Given the description of an element on the screen output the (x, y) to click on. 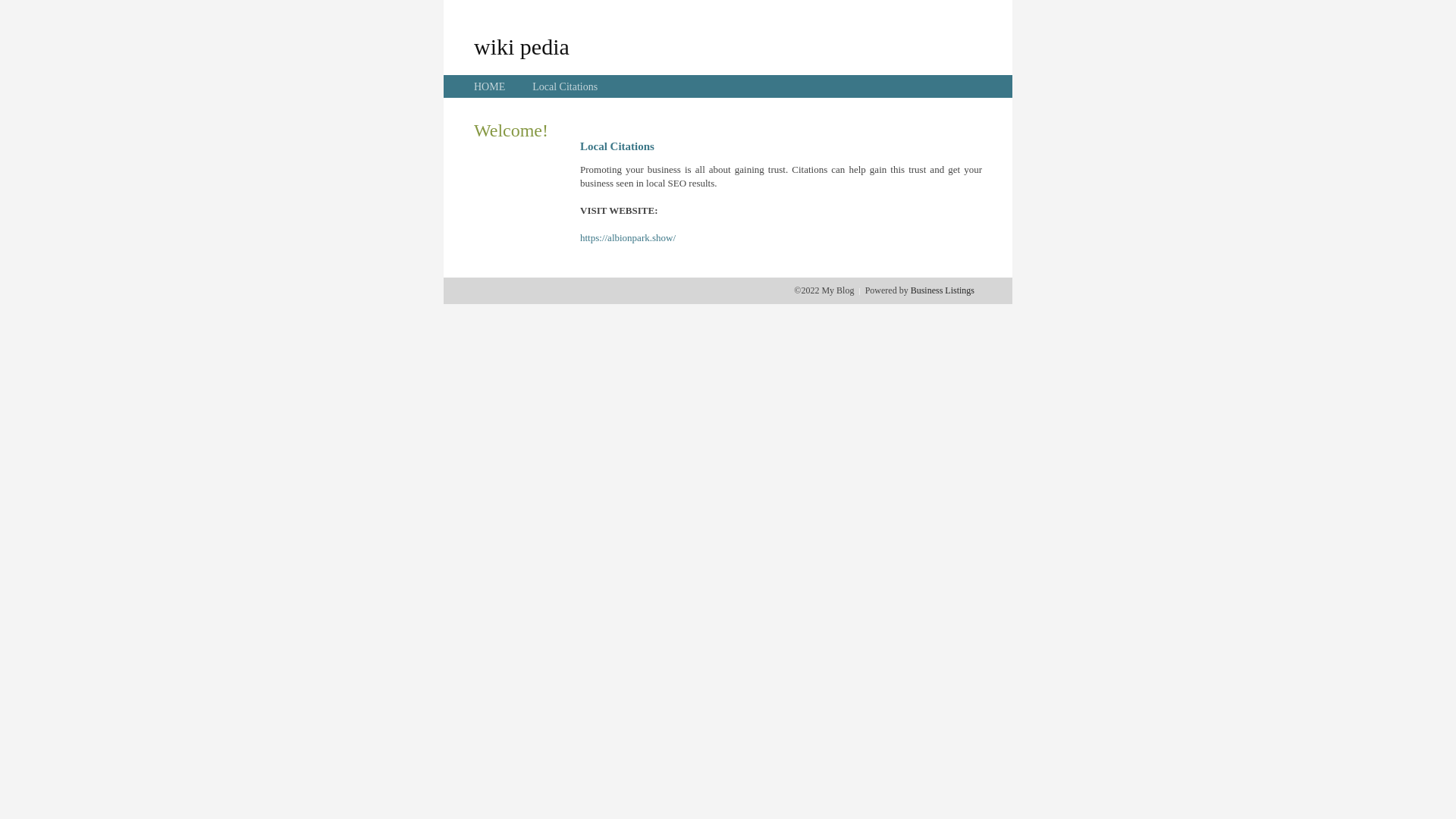
Local Citations Element type: text (564, 86)
HOME Element type: text (489, 86)
https://albionpark.show/ Element type: text (627, 237)
Business Listings Element type: text (942, 290)
wiki pedia Element type: text (521, 46)
